Given the description of an element on the screen output the (x, y) to click on. 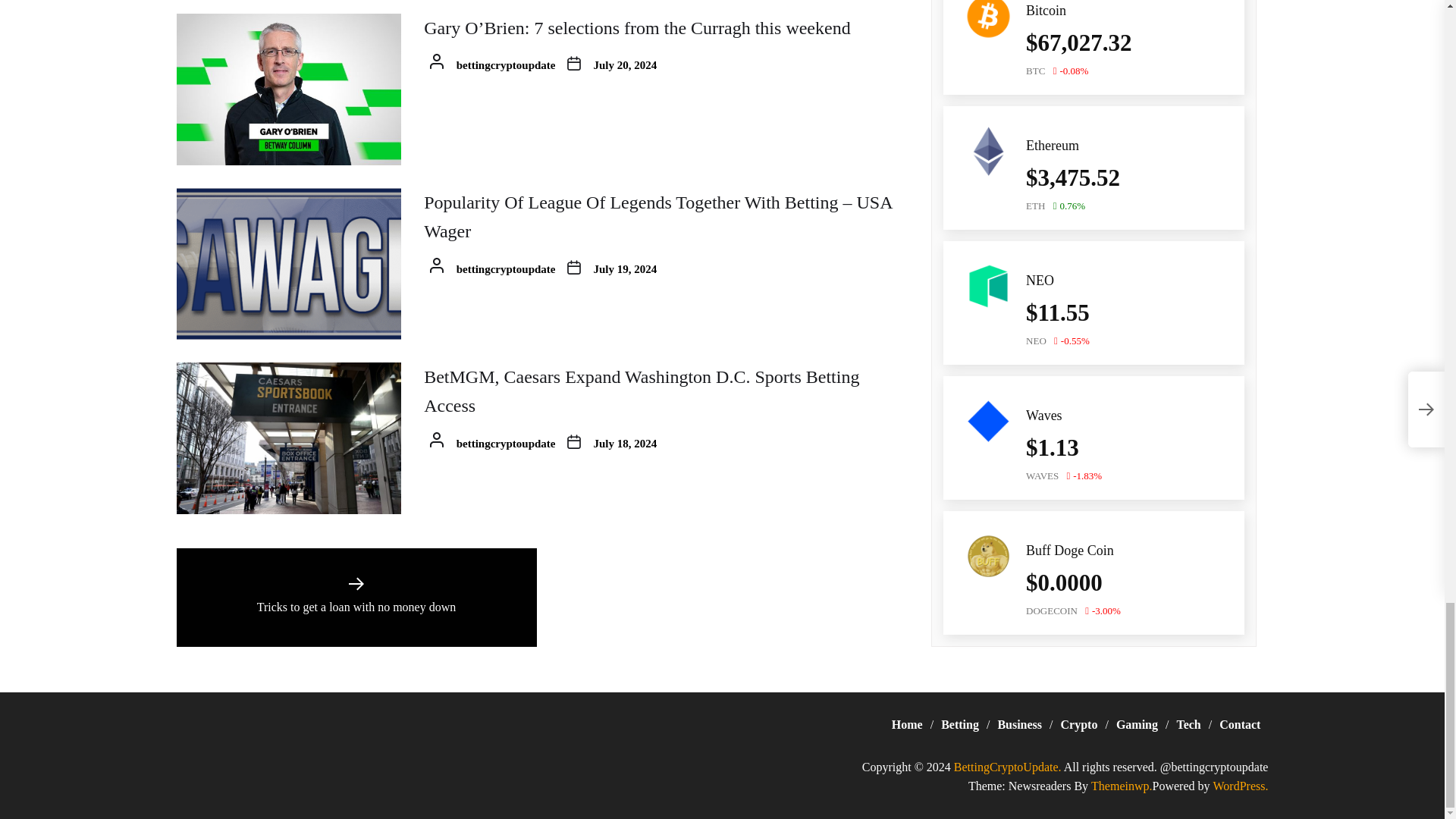
WordPress (1240, 786)
Themeinwp (1120, 786)
BettingCryptoUpdate (1007, 767)
